Given the description of an element on the screen output the (x, y) to click on. 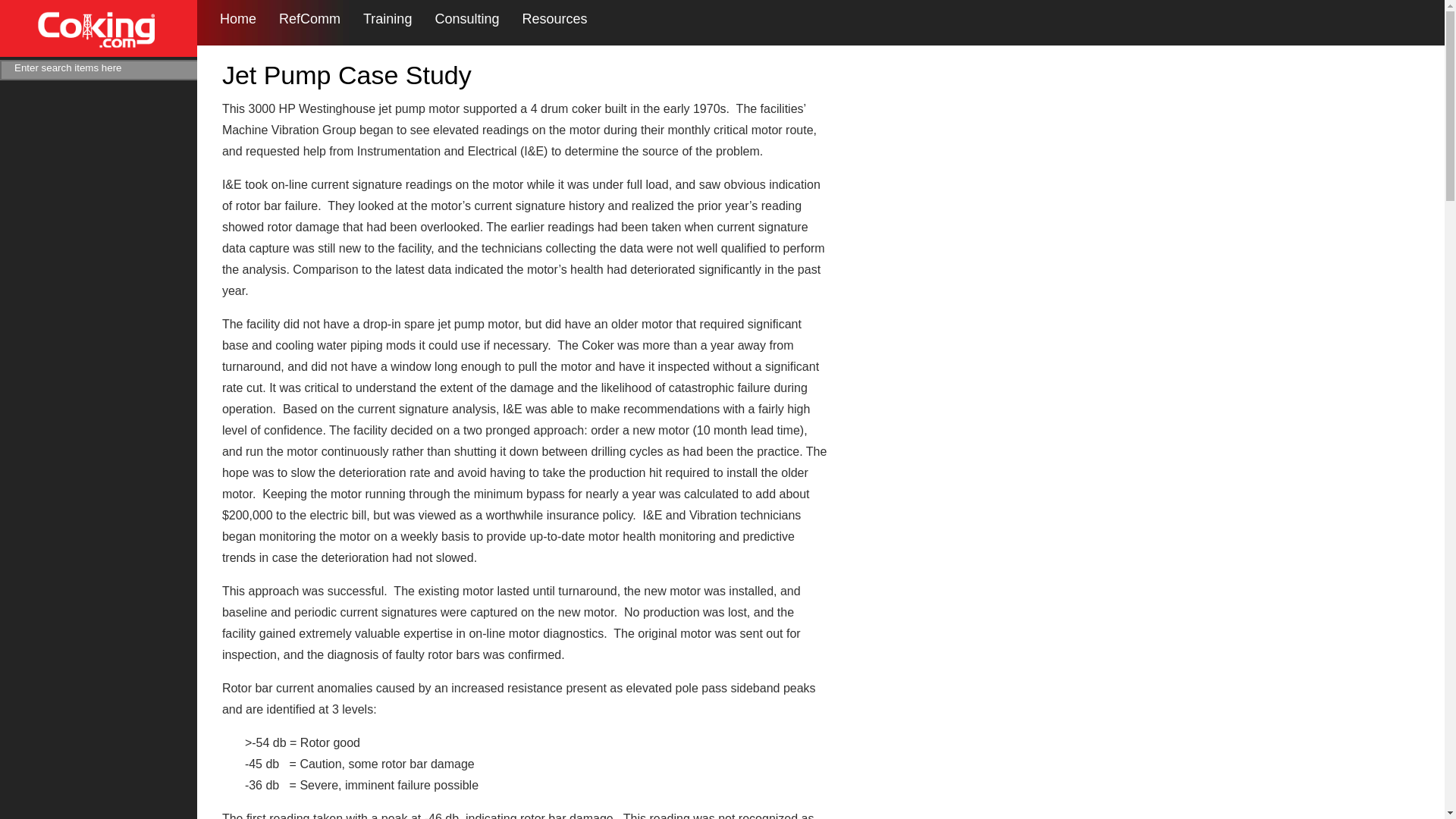
Consulting (466, 19)
Training (387, 19)
Search (217, 69)
Home (237, 19)
Training (387, 19)
RefComm (309, 19)
Resources (553, 19)
